Given the description of an element on the screen output the (x, y) to click on. 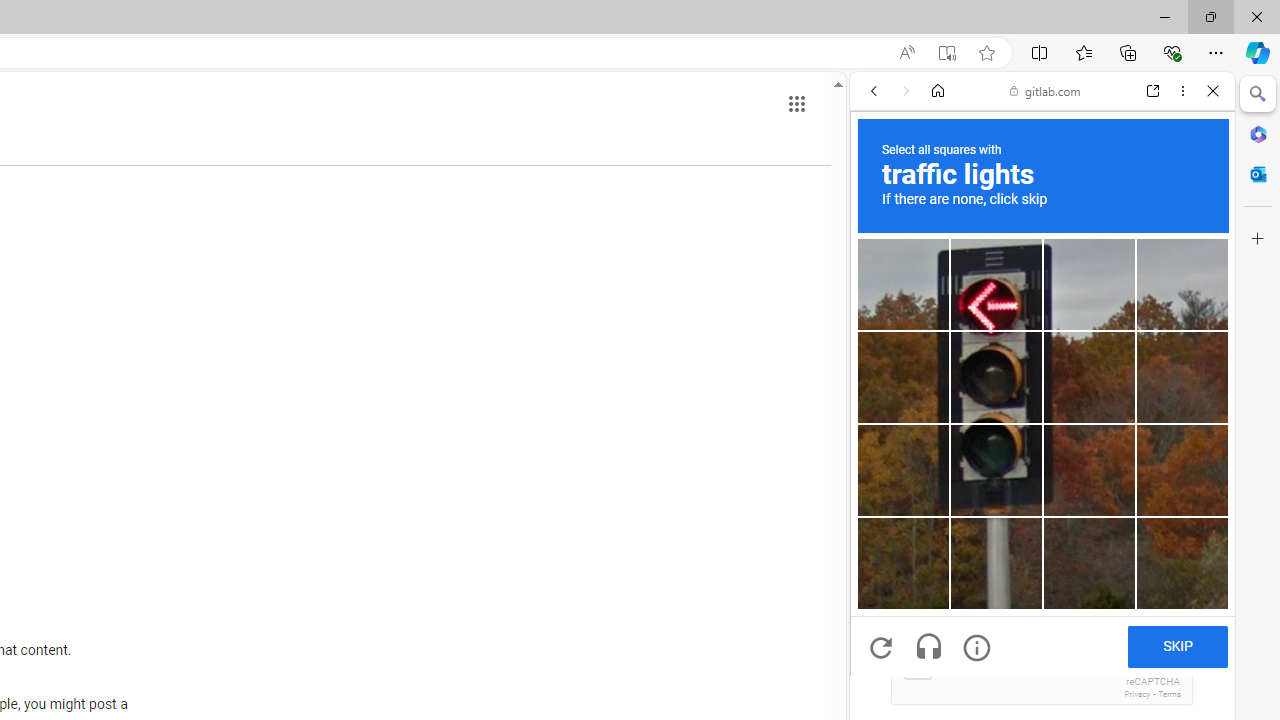
Dashboard (1042, 641)
Resend confirmation instructions (1042, 443)
GitLab (1034, 288)
Search Filter, ALL (881, 228)
Register Now (1042, 445)
Login (1042, 494)
I'm not a robot (916, 664)
